Given the description of an element on the screen output the (x, y) to click on. 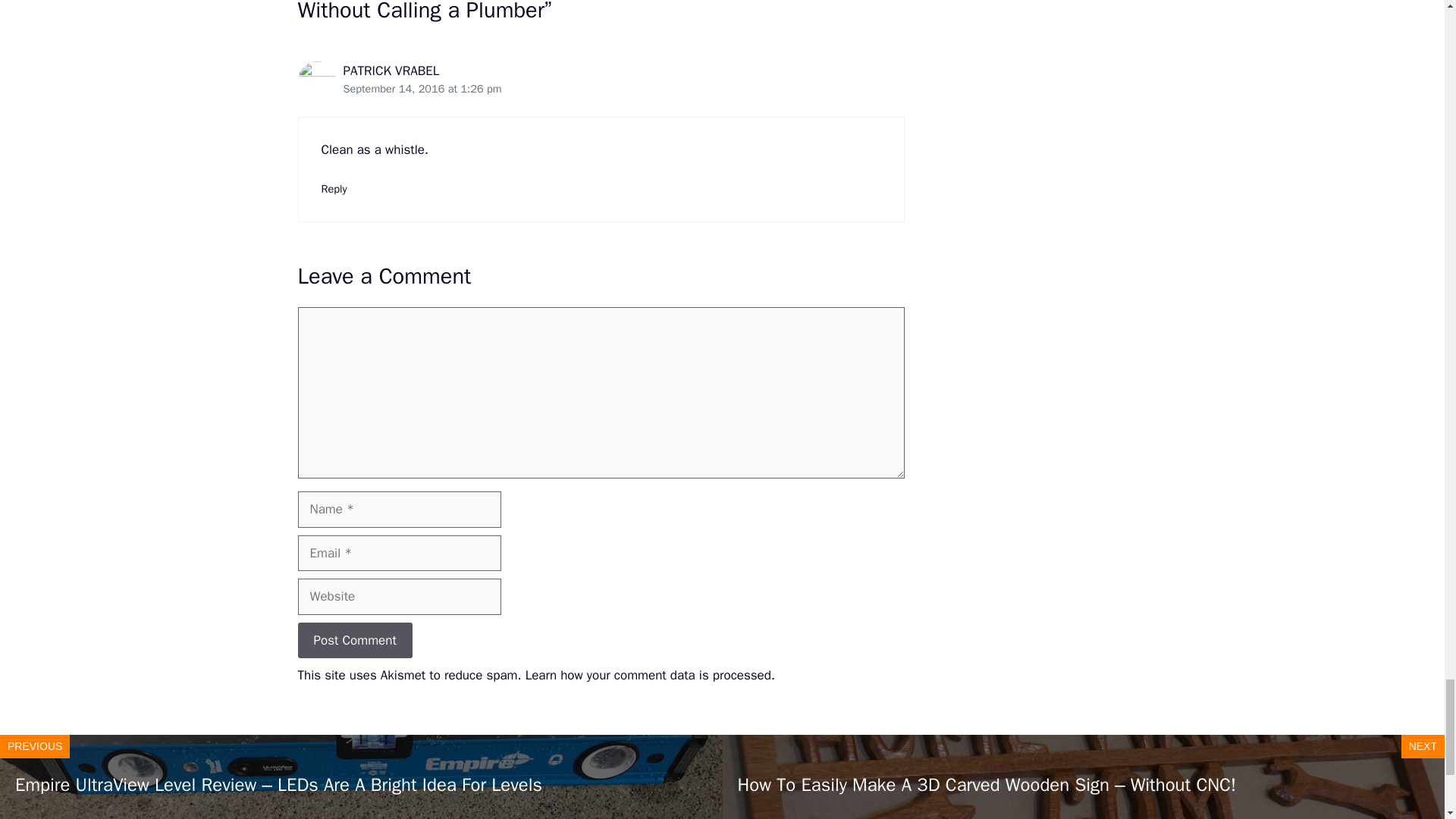
PATRICK VRABEL (390, 70)
Learn how your comment data is processed (648, 675)
Post Comment (354, 640)
September 14, 2016 at 1:26 pm (421, 88)
Reply (334, 188)
Post Comment (354, 640)
